Given the description of an element on the screen output the (x, y) to click on. 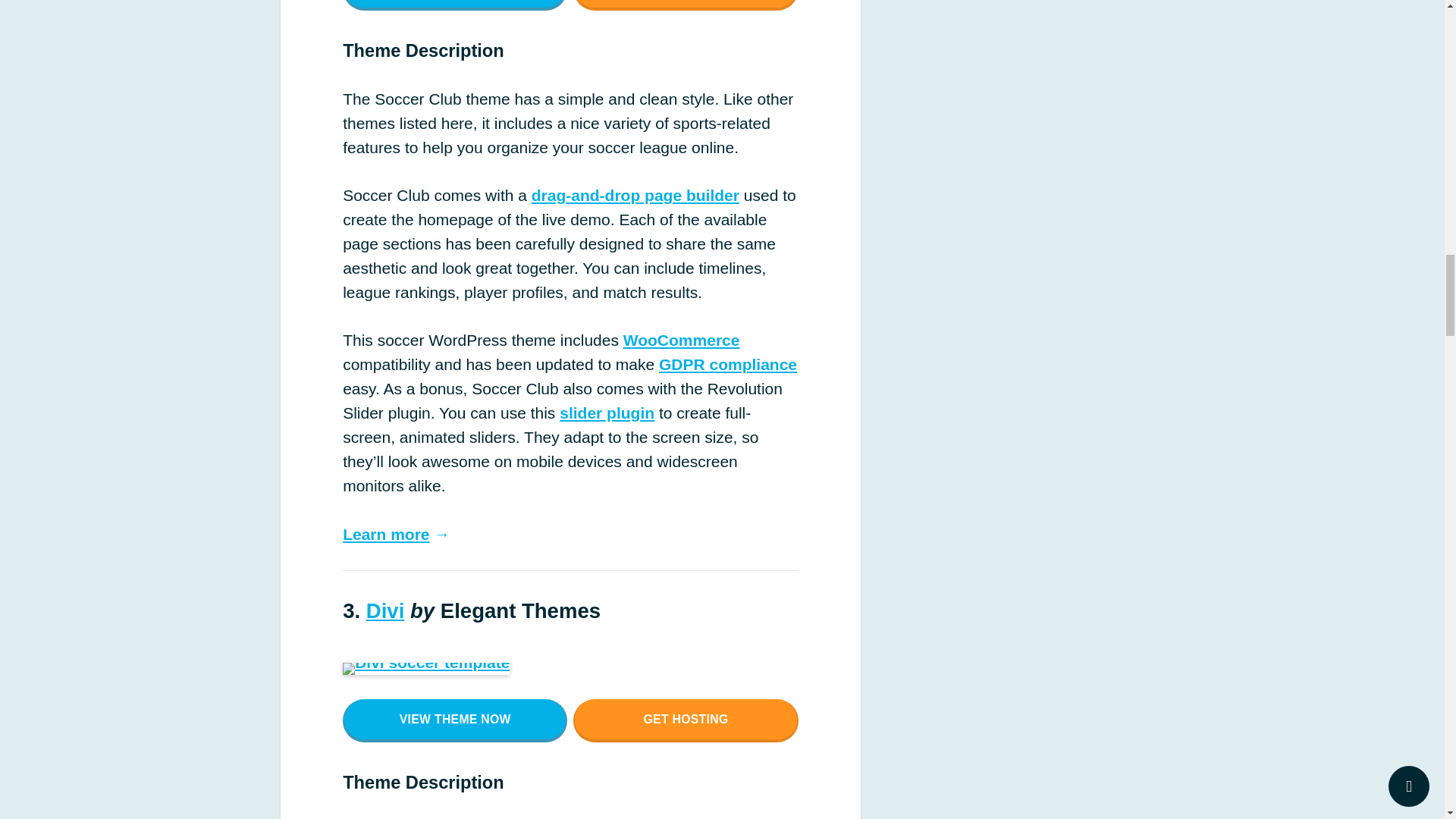
WooCommerce (681, 339)
GDPR compliance (727, 364)
slider plugin (606, 412)
GET HOSTING (685, 5)
drag-and-drop page builder (635, 194)
GET HOSTING (685, 720)
Divi (385, 610)
VIEW THEME NOW (454, 720)
VIEW THEME NOW (454, 5)
